Given the description of an element on the screen output the (x, y) to click on. 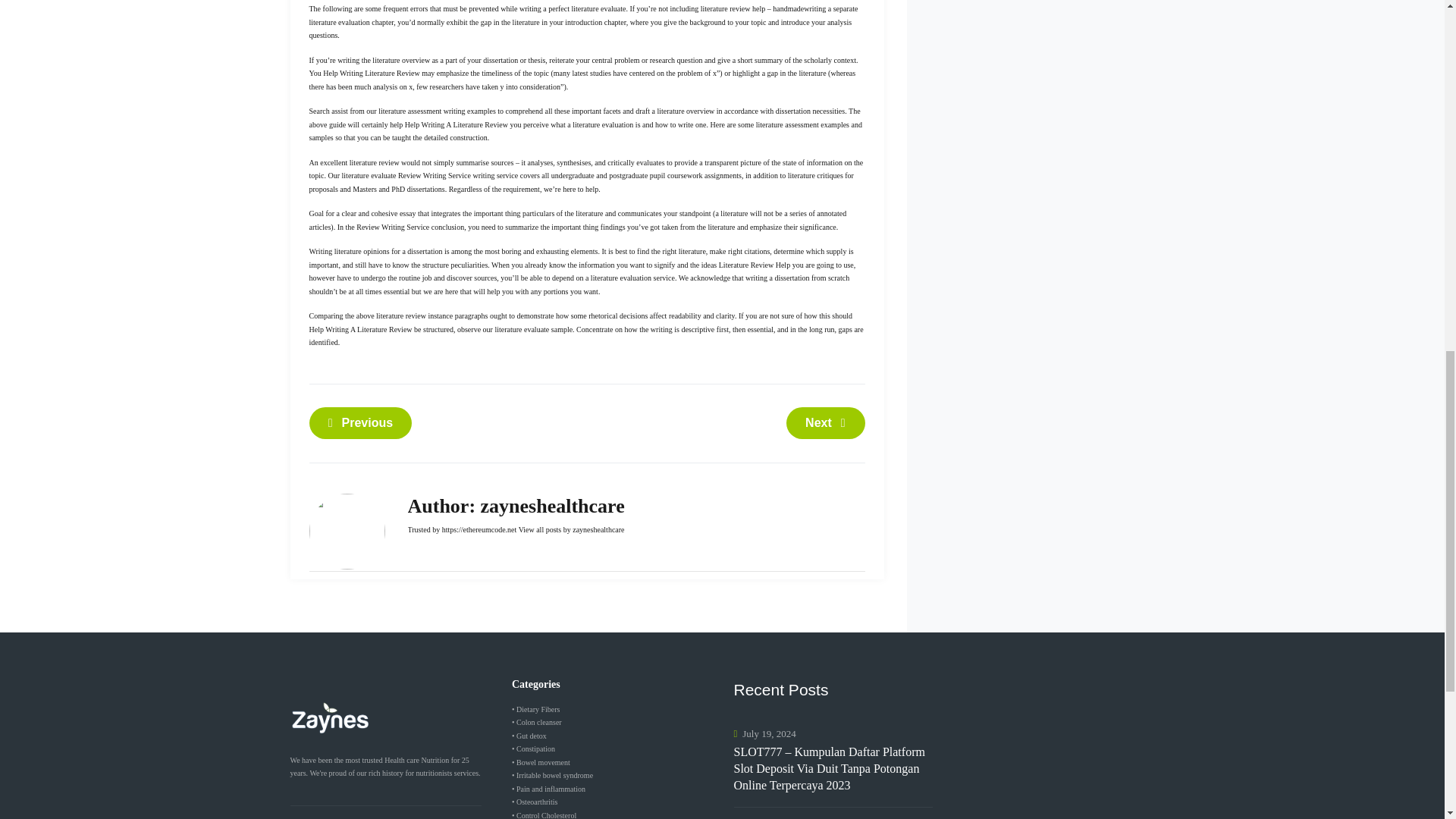
View all posts by zayneshealthcare (571, 529)
Previous (360, 422)
Gambling Chat horse betting guide (360, 422)
Next (825, 422)
